Given the description of an element on the screen output the (x, y) to click on. 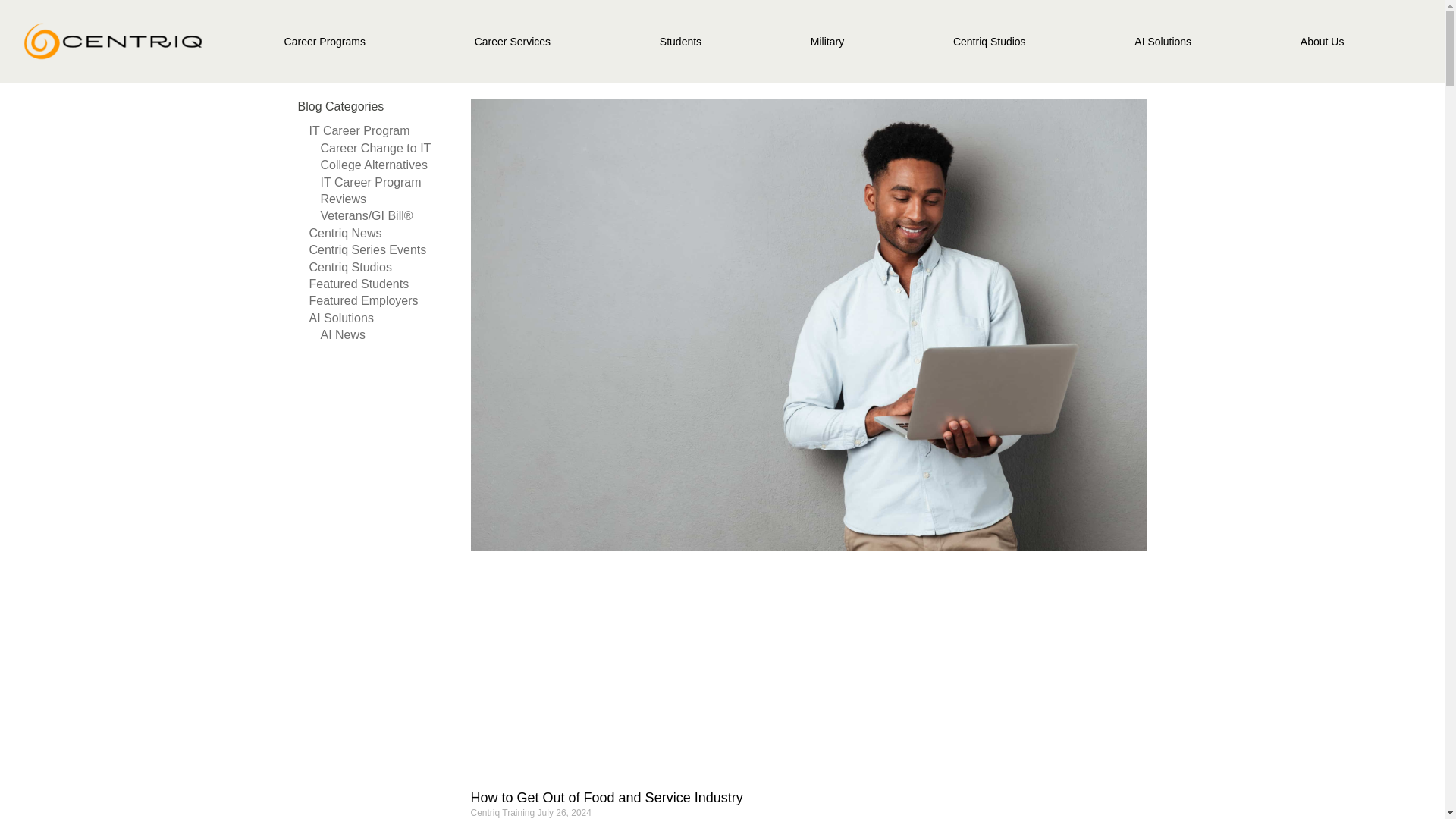
Students (680, 41)
Career Services (512, 41)
Centriq Studios (989, 41)
AI Solutions (1162, 41)
Military (826, 41)
About Us (1321, 41)
Career Programs (325, 41)
